Given the description of an element on the screen output the (x, y) to click on. 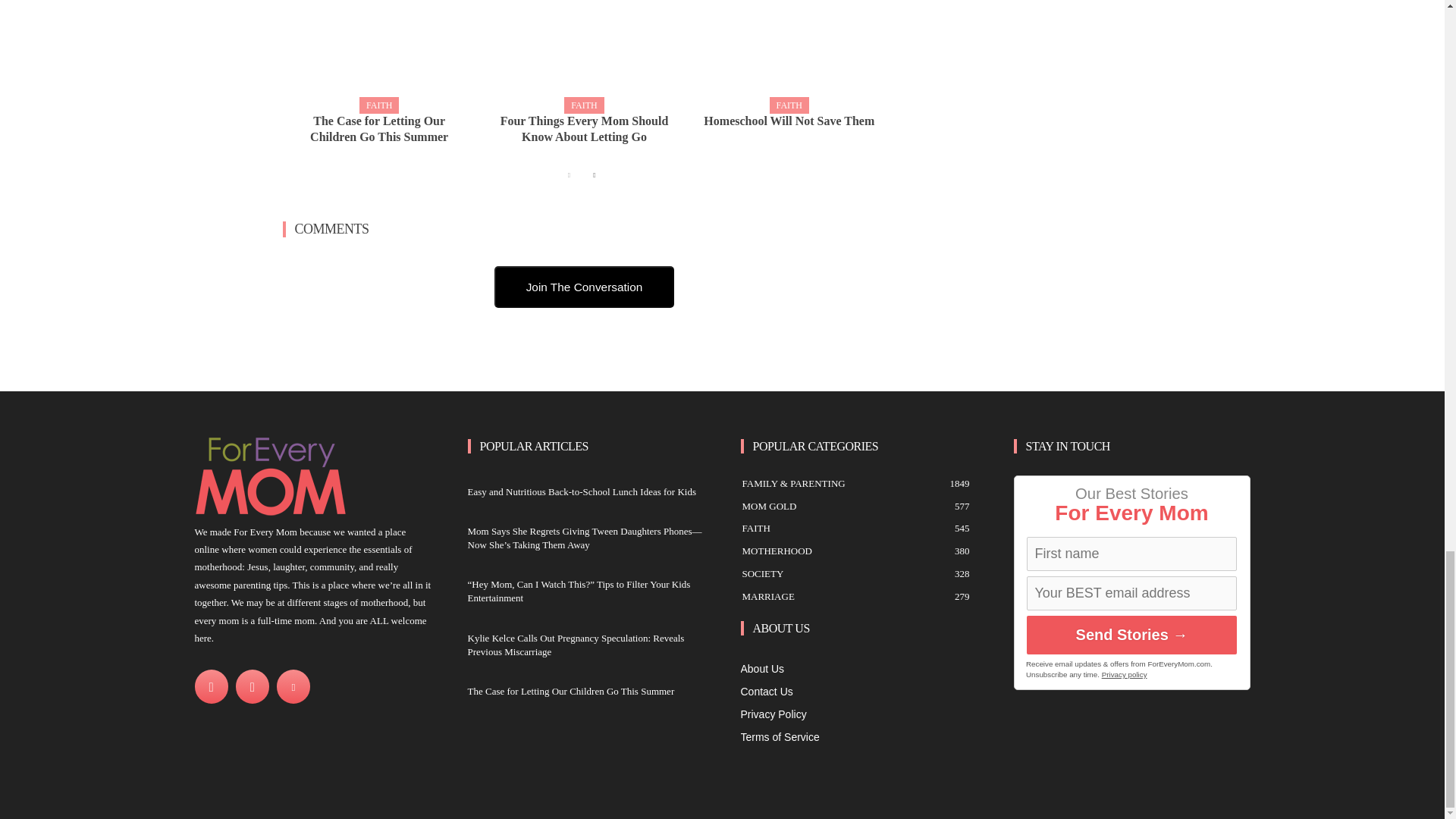
Four Things Every Mom Should Know About Letting Go (584, 128)
The Case for Letting Our Children Go This Summer (379, 128)
The Case for Letting Our Children Go This Summer (379, 53)
Four Things Every Mom Should Know About Letting Go (584, 53)
